Given the description of an element on the screen output the (x, y) to click on. 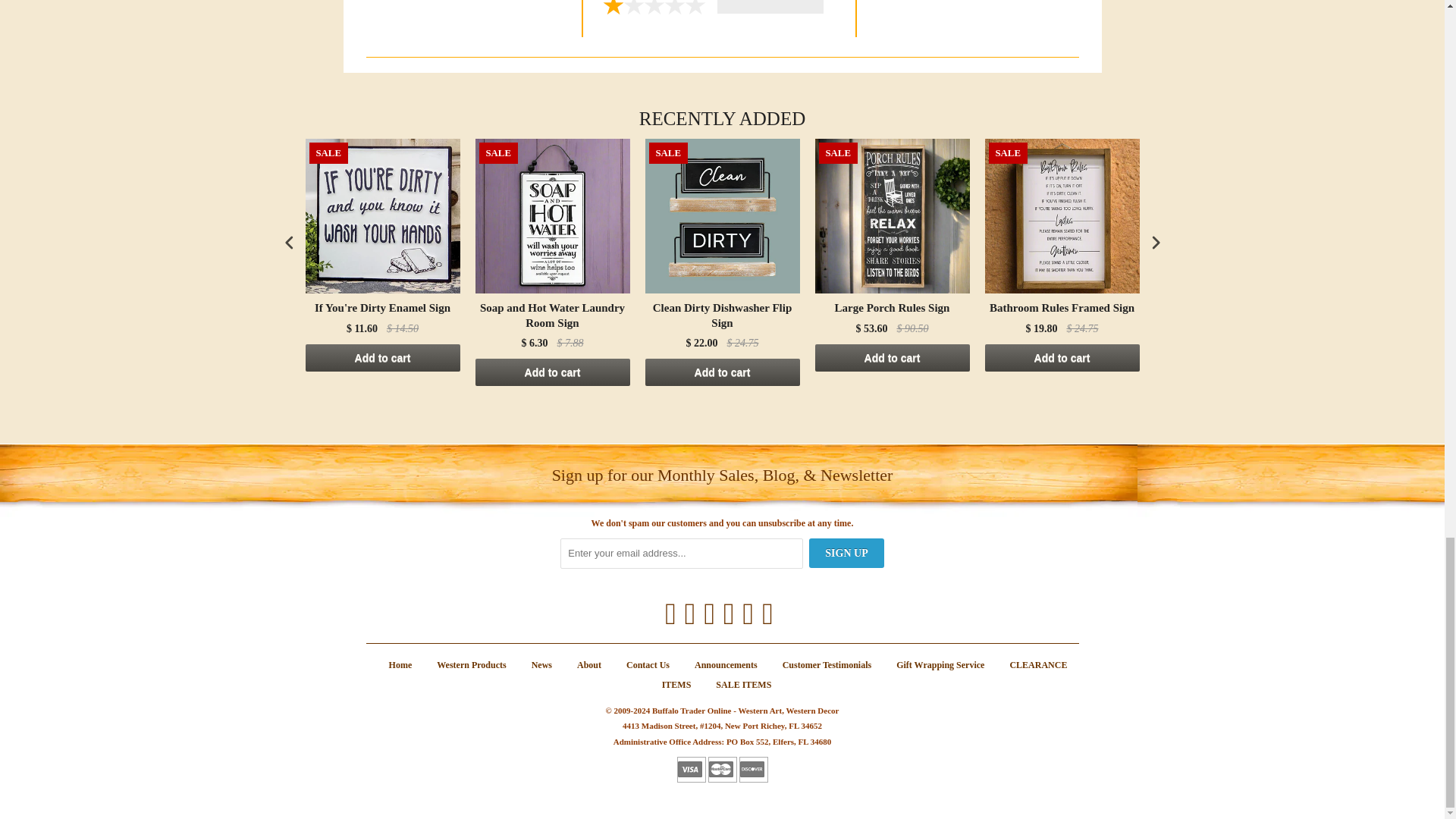
Sign Up (846, 553)
